Given the description of an element on the screen output the (x, y) to click on. 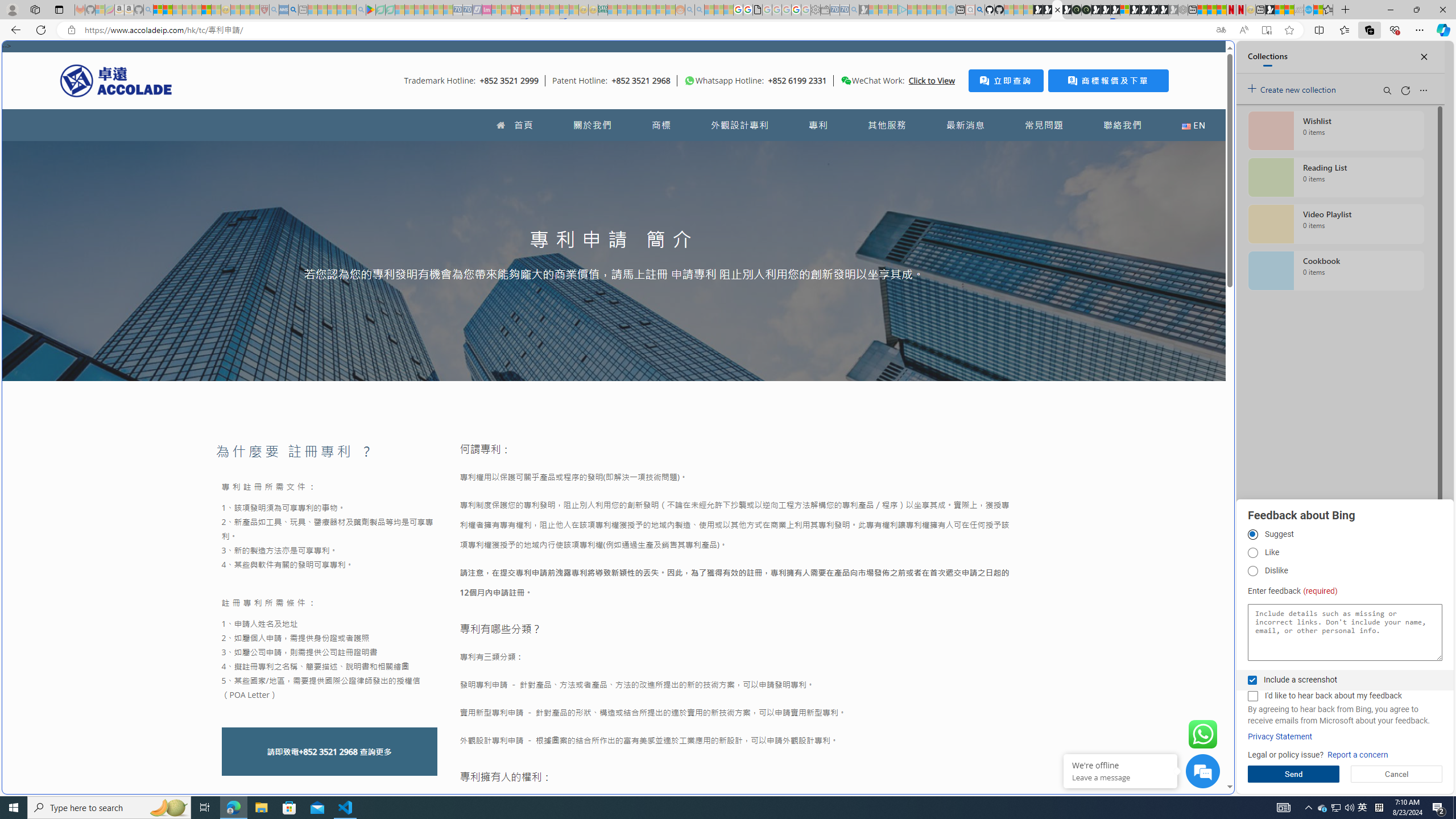
Accolade IP HK Logo (116, 80)
